Given the description of an element on the screen output the (x, y) to click on. 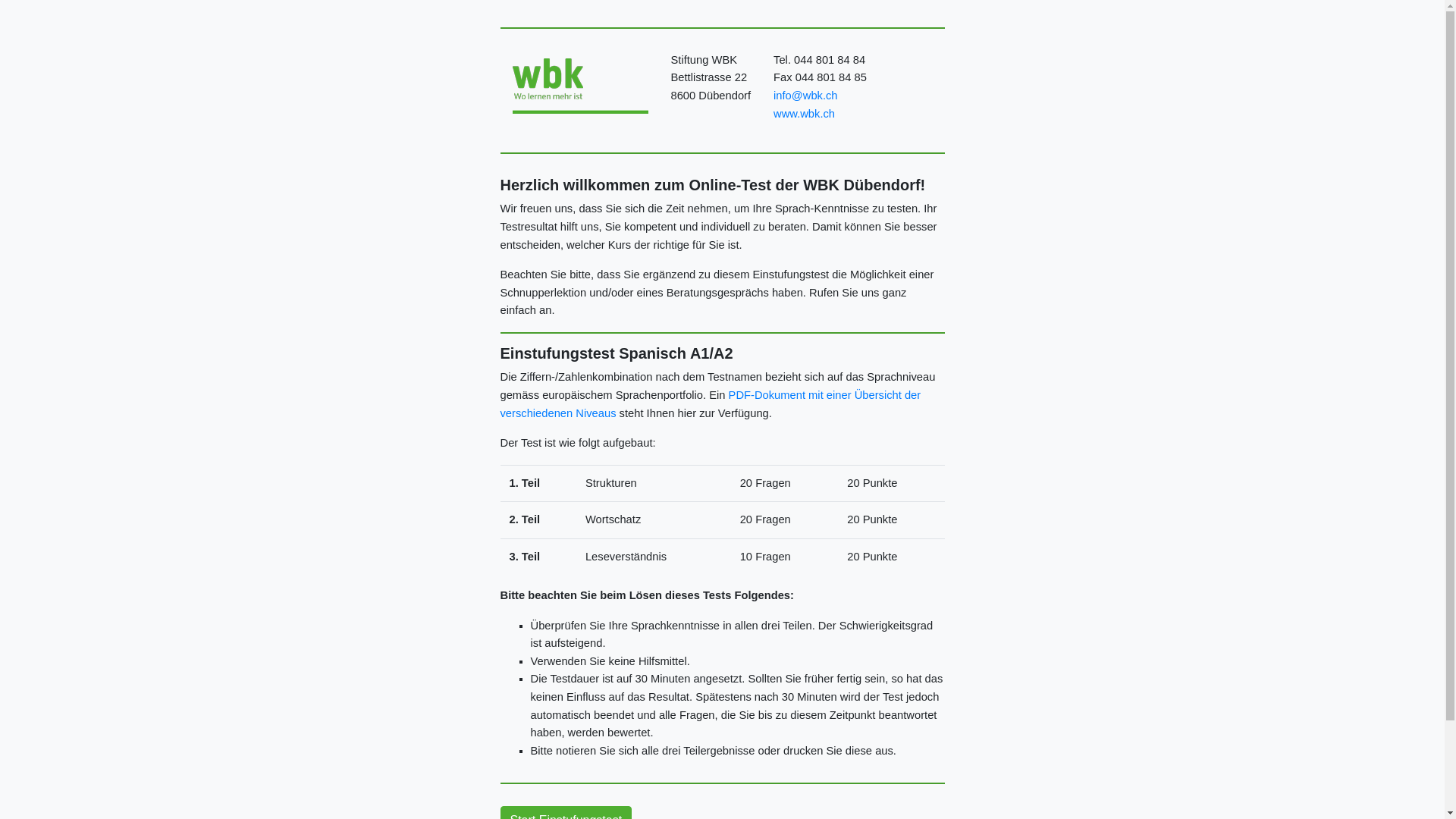
info@wbk.ch Element type: text (805, 95)
www.wbk.ch Element type: text (803, 113)
